Given the description of an element on the screen output the (x, y) to click on. 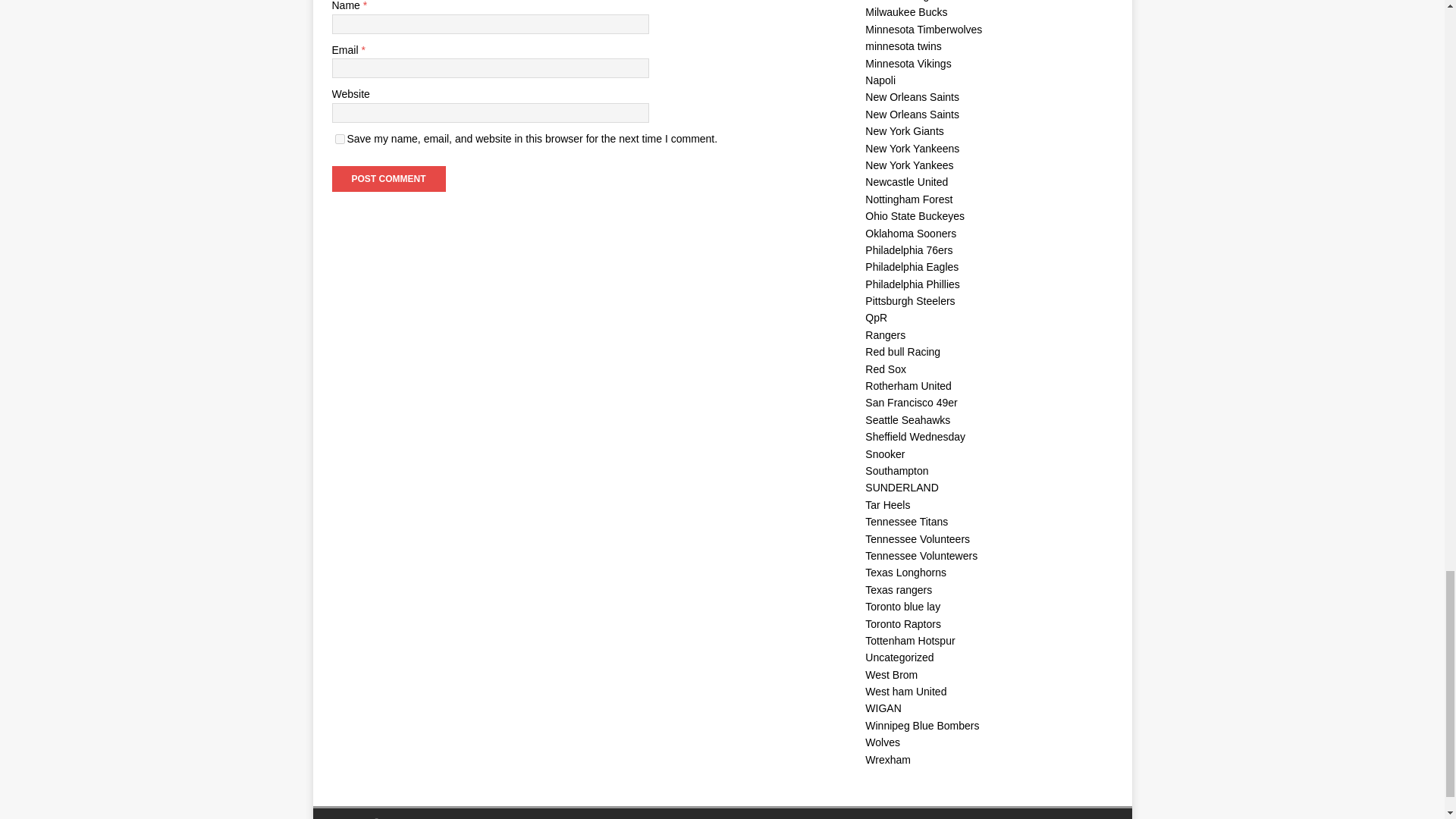
yes (339, 139)
Post Comment (388, 178)
Post Comment (388, 178)
